Given the description of an element on the screen output the (x, y) to click on. 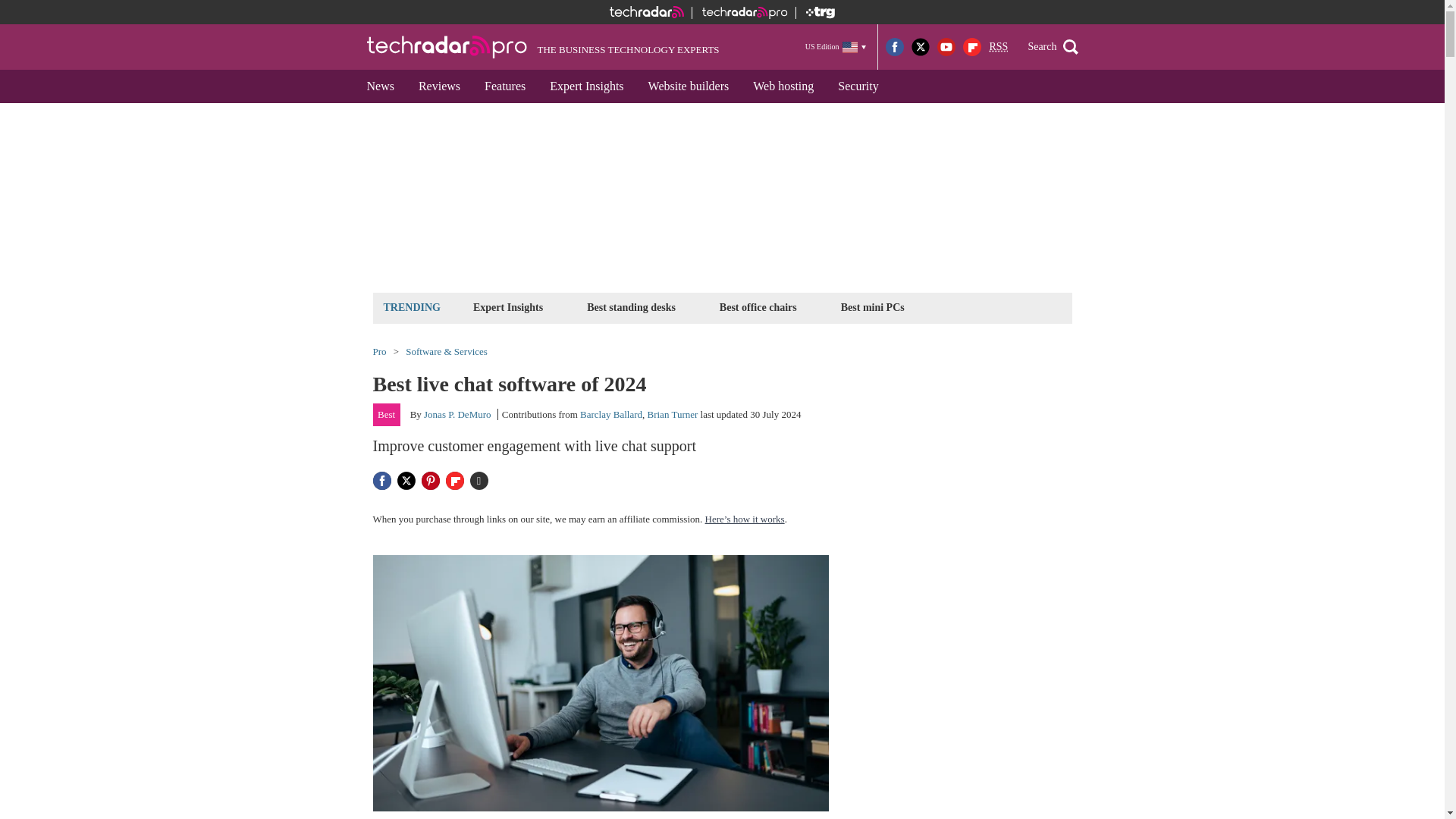
News (380, 86)
Best office chairs (758, 307)
Web hosting (783, 86)
Features (504, 86)
Best standing desks (630, 307)
Really Simple Syndication (997, 46)
Reviews (438, 86)
Expert Insights (507, 307)
THE BUSINESS TECHNOLOGY EXPERTS (542, 46)
Expert Insights (585, 86)
